Given the description of an element on the screen output the (x, y) to click on. 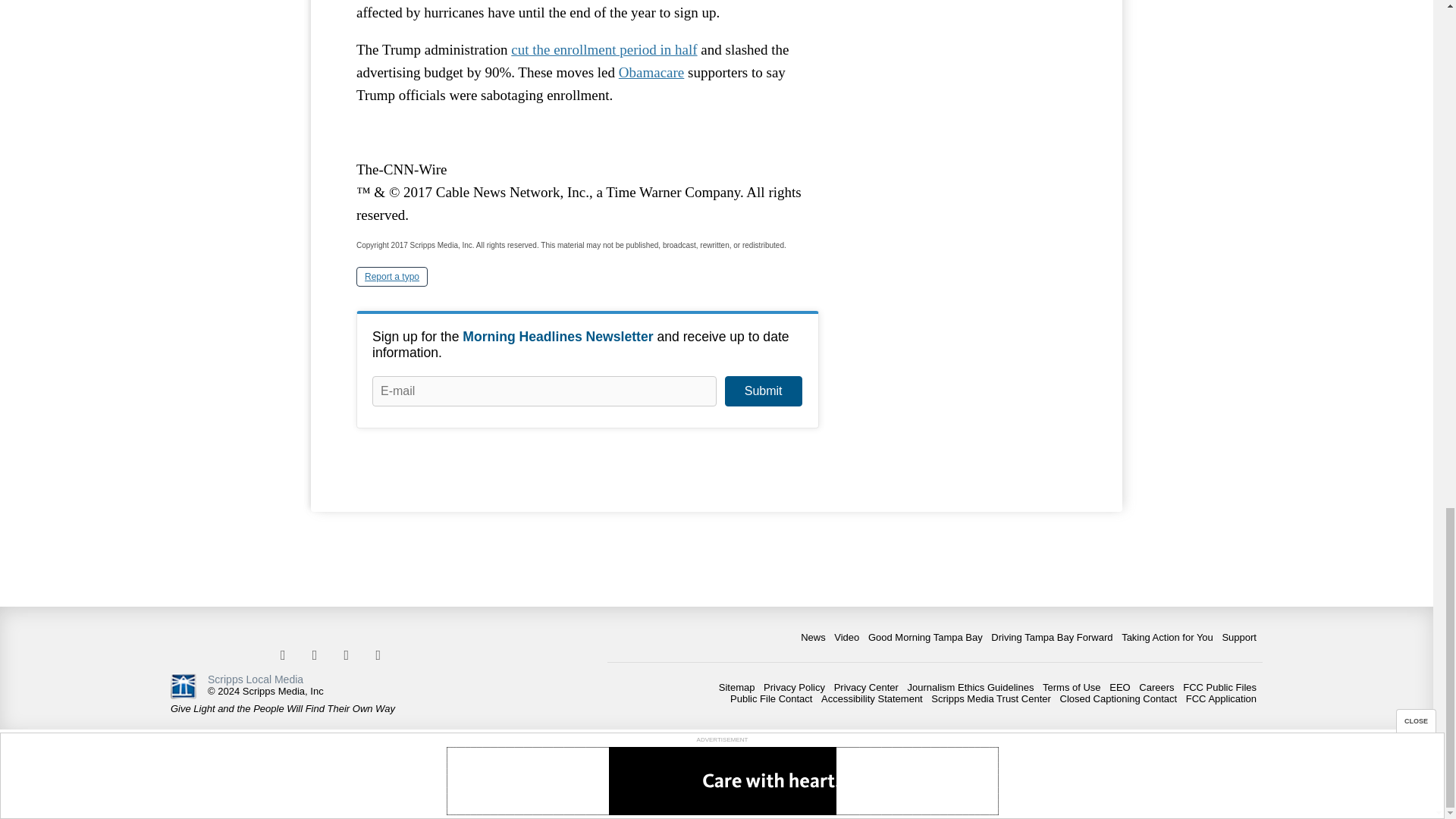
Submit (763, 390)
